Given the description of an element on the screen output the (x, y) to click on. 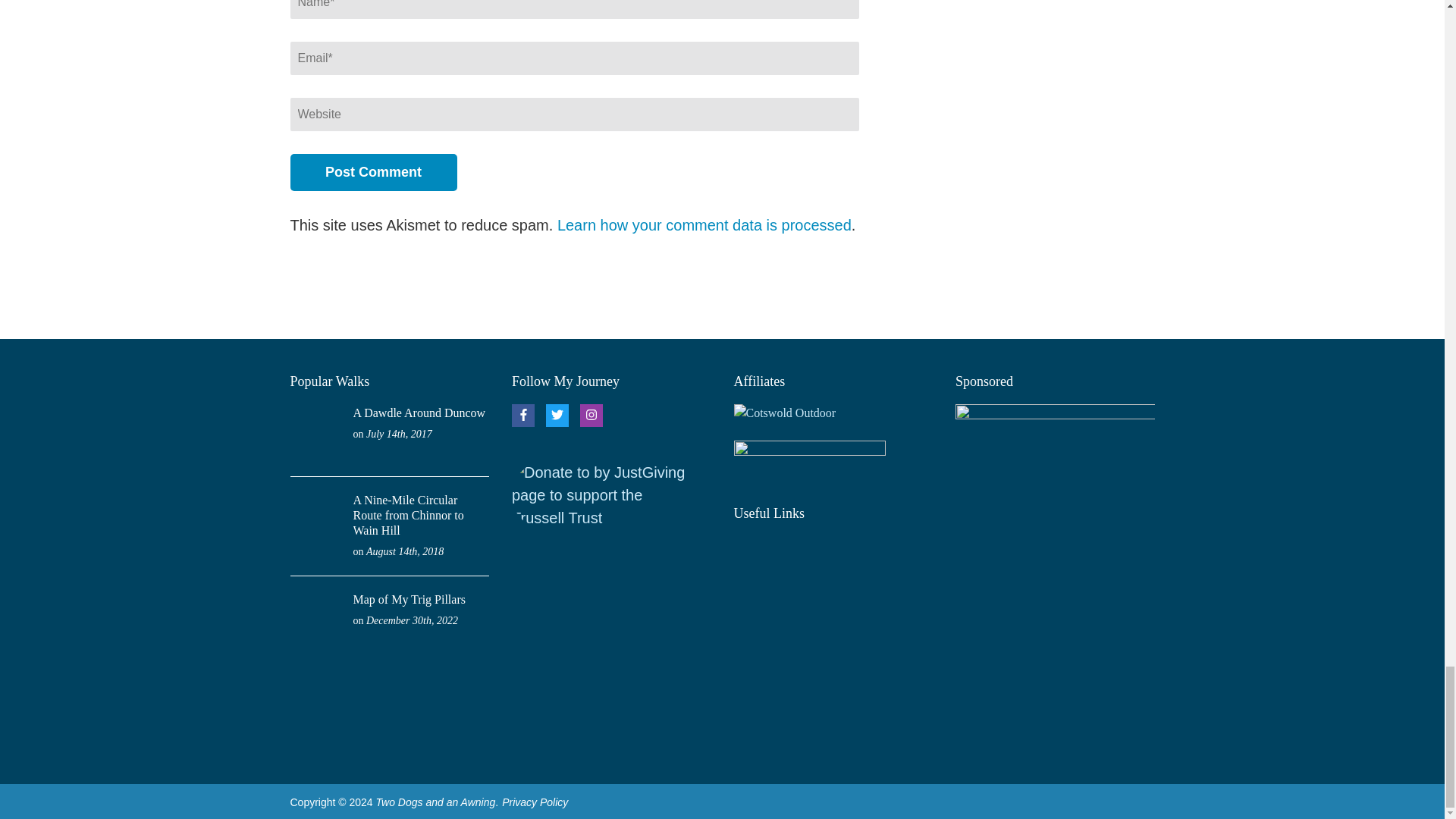
twitter (557, 415)
The Caravan Club (833, 635)
facebook (523, 415)
Post Comment (373, 171)
instagram (590, 415)
